Given the description of an element on the screen output the (x, y) to click on. 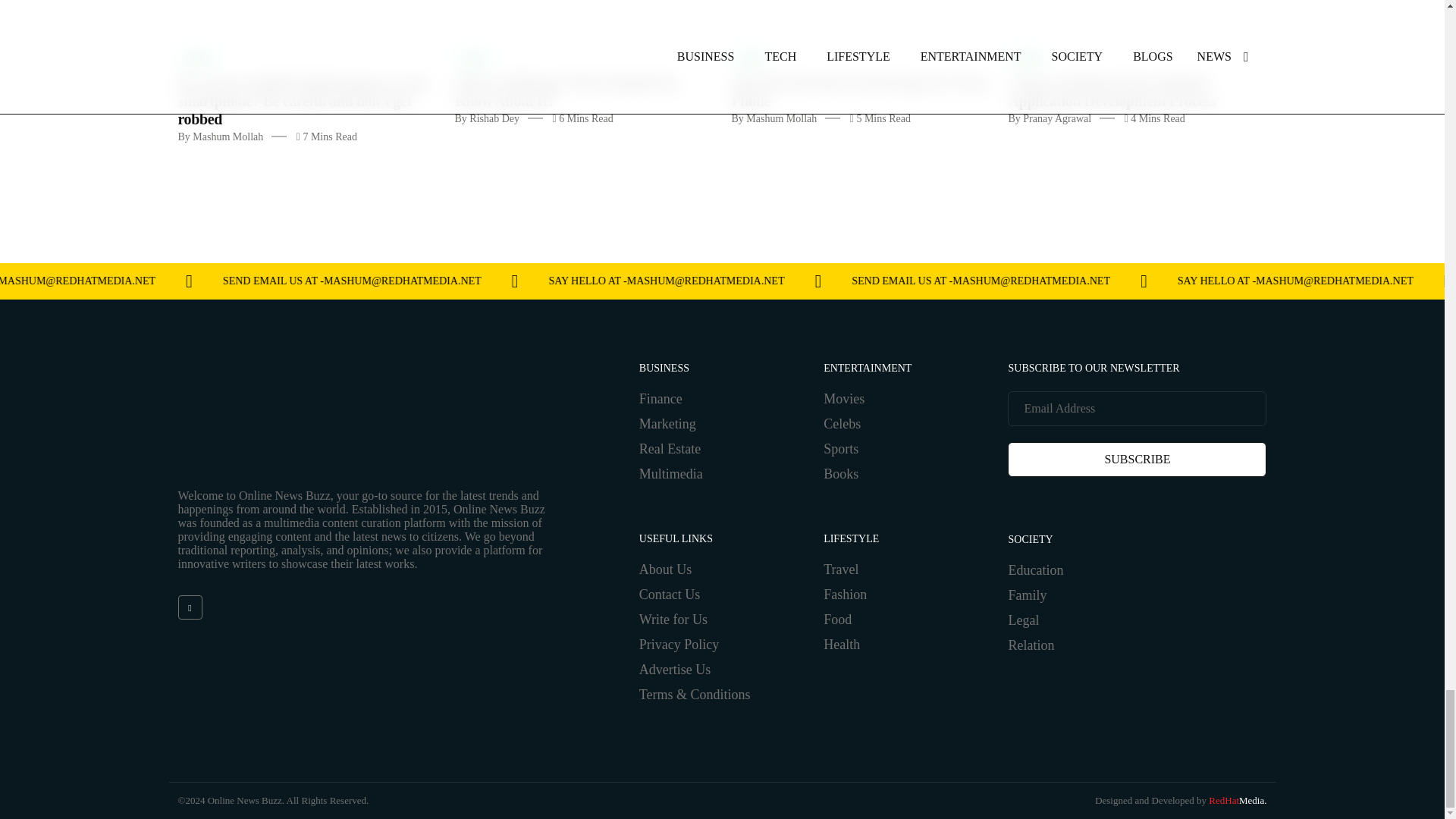
Subscribe (1136, 459)
Apps (1027, 58)
Apps (196, 58)
Apps (473, 58)
Apps (750, 58)
